Given the description of an element on the screen output the (x, y) to click on. 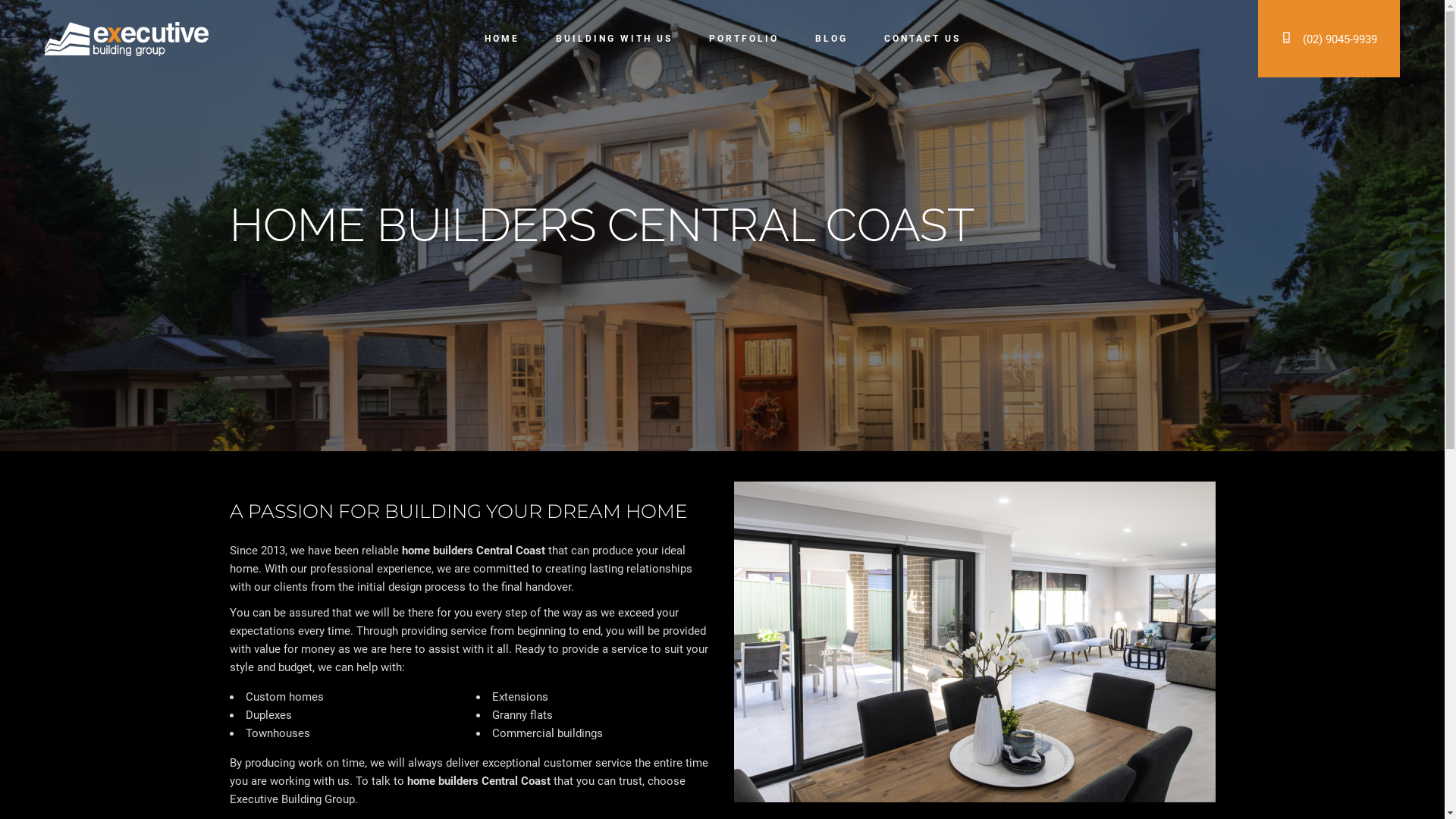
BLOG Element type: text (830, 38)
CONTACT US Element type: text (922, 38)
(02) 9045-9939 Element type: text (1328, 37)
BUILDING WITH US Element type: text (613, 38)
HOME Element type: text (500, 38)
PORTFOLIO Element type: text (743, 38)
